Given the description of an element on the screen output the (x, y) to click on. 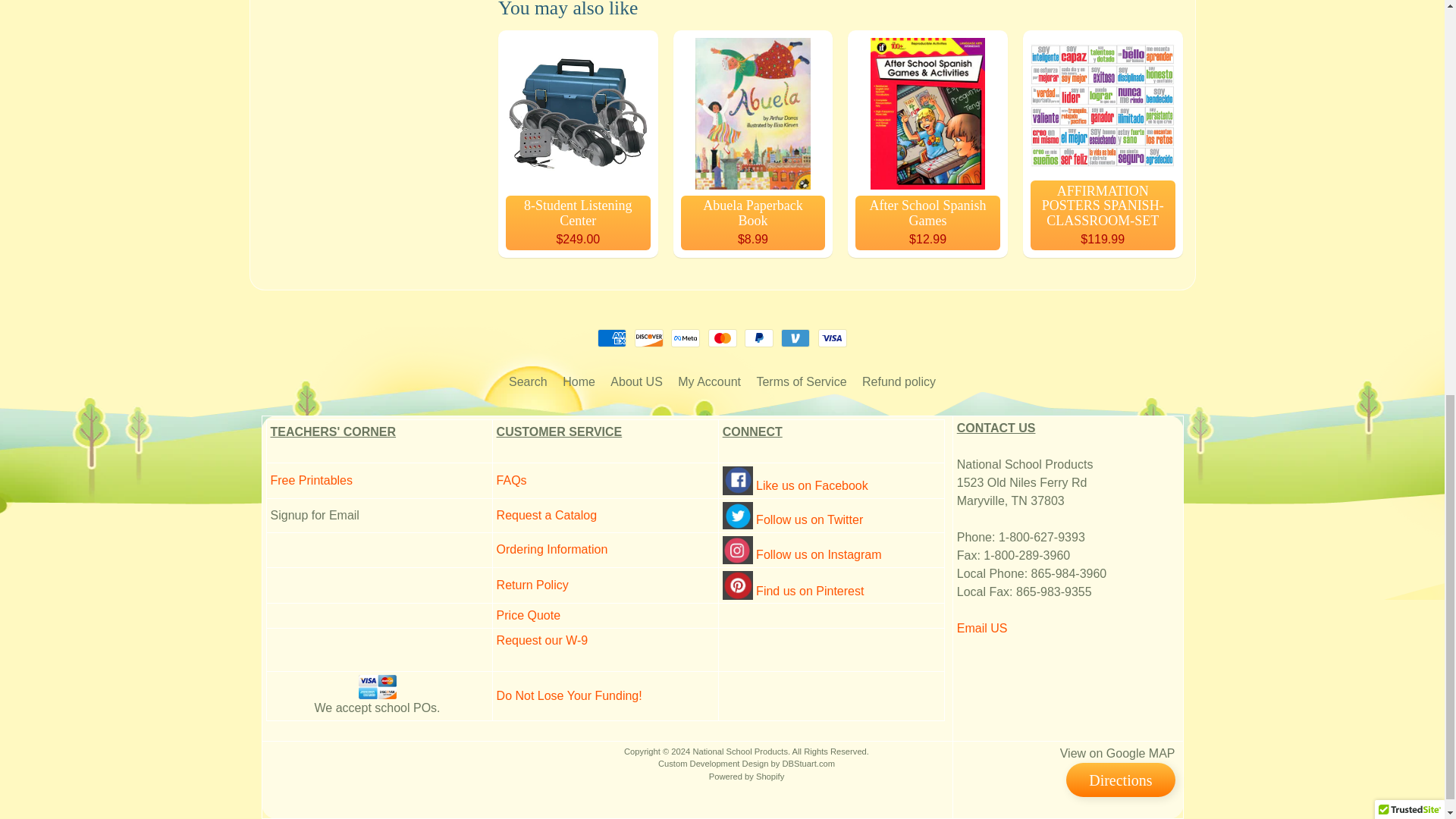
Send for Price Quote (528, 615)
Visa (832, 338)
Mastercard (721, 338)
American Express (611, 338)
Discover (648, 338)
Request a Catalog (546, 514)
PayPal (758, 338)
Free PDF Printables (310, 480)
Meta Pay (685, 338)
Venmo (794, 338)
Frequency Asked Questions (511, 480)
Order Return Policy (532, 584)
